Given the description of an element on the screen output the (x, y) to click on. 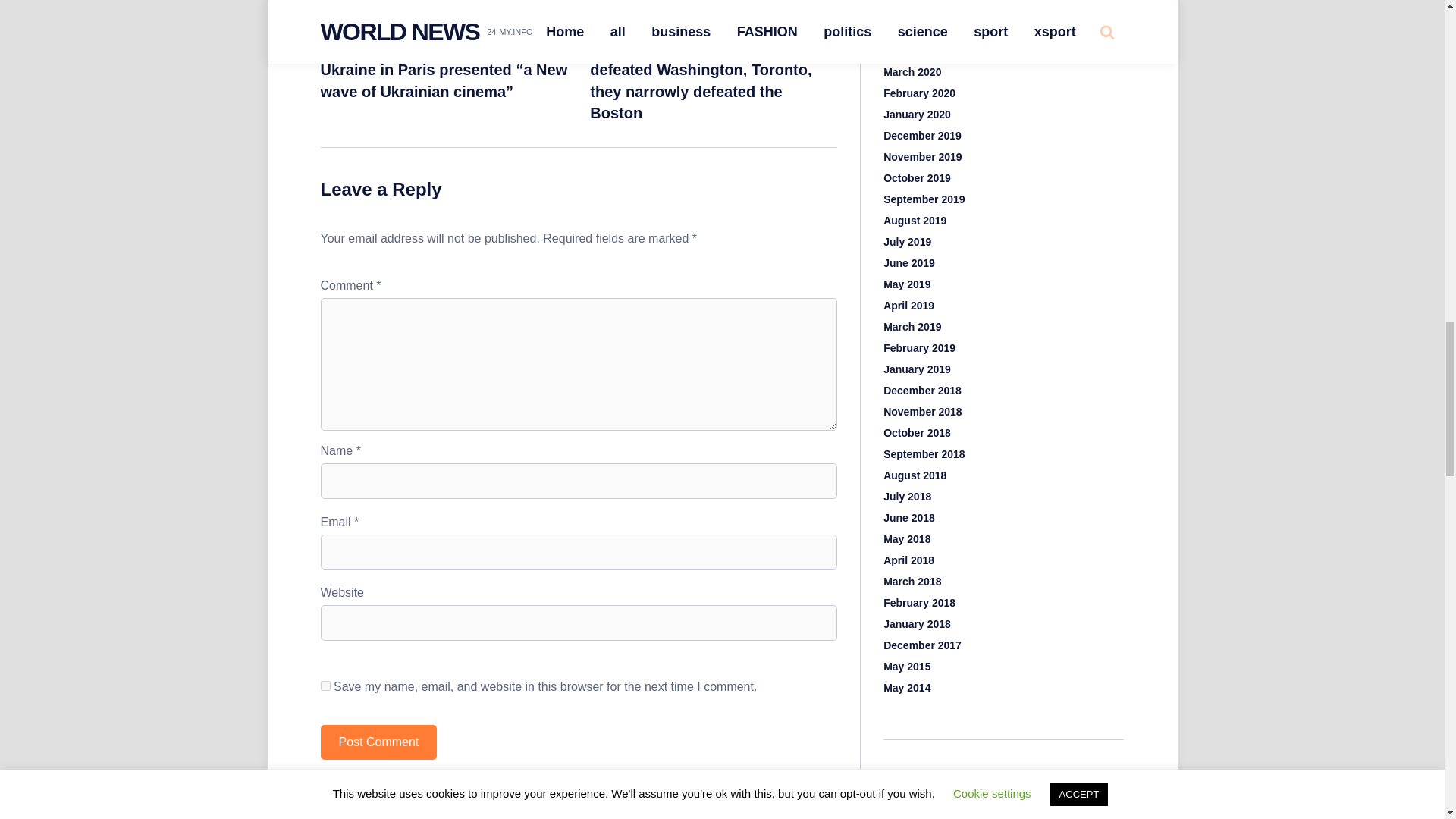
Post Comment (378, 742)
Post Comment (378, 742)
yes (325, 685)
